Given the description of an element on the screen output the (x, y) to click on. 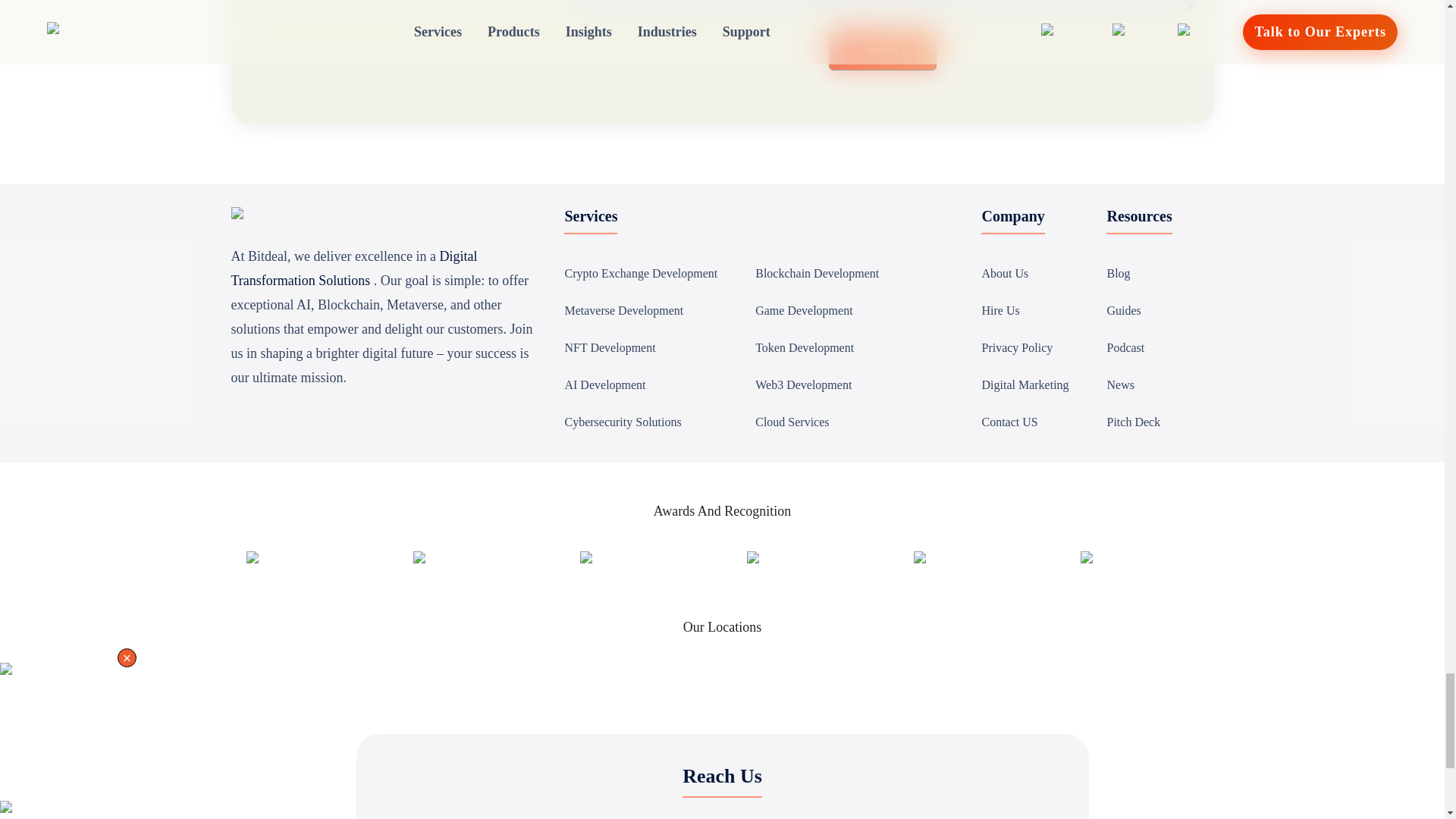
NFT Development (609, 331)
Digital Transformation Solutions (266, 199)
AI Development (604, 368)
footLogo (941, 544)
Metaverse Development (623, 294)
footLogo2 (611, 544)
Crypto Exchange Development (640, 256)
map (16, 656)
footLogos (1108, 544)
footLogo3 (777, 544)
